Given the description of an element on the screen output the (x, y) to click on. 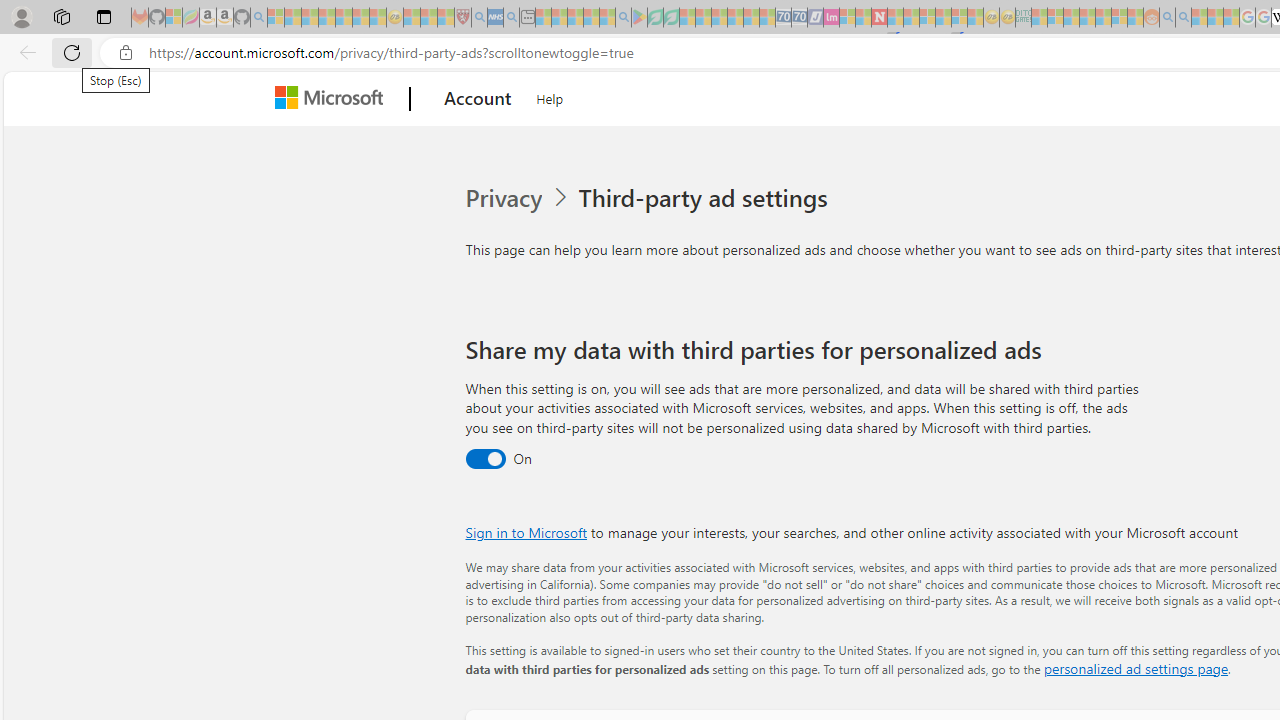
Third-party ad settings (706, 197)
Local - MSN - Sleeping (445, 17)
Cheap Car Rentals - Save70.com - Sleeping (783, 17)
Terms of Use Agreement - Sleeping (655, 17)
Bluey: Let's Play! - Apps on Google Play - Sleeping (639, 17)
Jobs - lastminute.com Investor Portal - Sleeping (831, 17)
Microsoft account | Privacy - Sleeping (1055, 17)
Sign in to Microsoft (525, 532)
NCL Adult Asthma Inhaler Choice Guideline - Sleeping (495, 17)
